Given the description of an element on the screen output the (x, y) to click on. 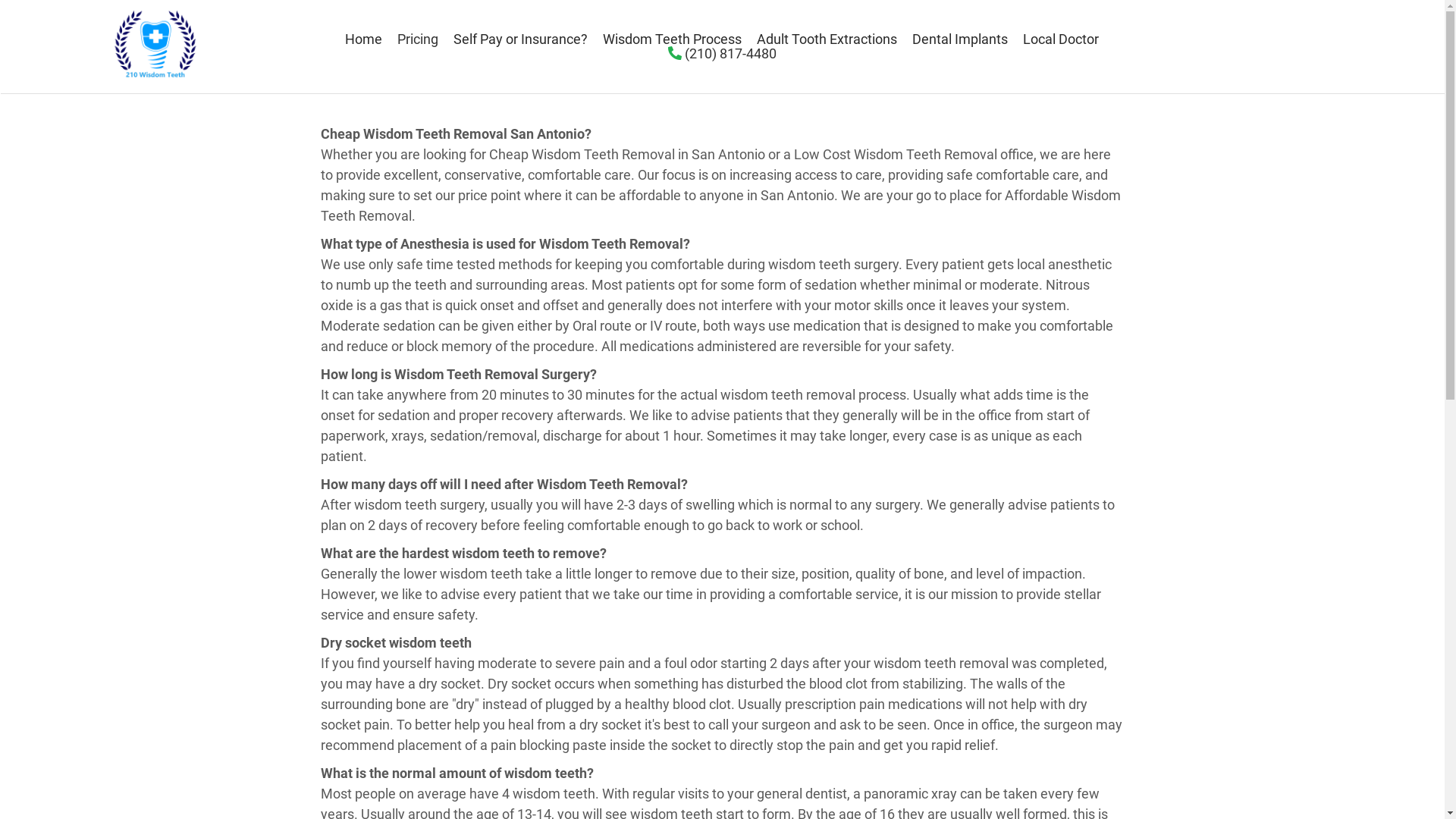
Dental Implants Element type: text (959, 39)
Self Pay or Insurance? Element type: text (520, 39)
(210) 817-4480 Element type: text (722, 53)
Adult Tooth Extractions Element type: text (826, 39)
Pricing Element type: text (417, 39)
Wisdom Teeth Process Element type: text (672, 39)
Local Doctor Element type: text (1060, 39)
Home Element type: text (363, 39)
